Given the description of an element on the screen output the (x, y) to click on. 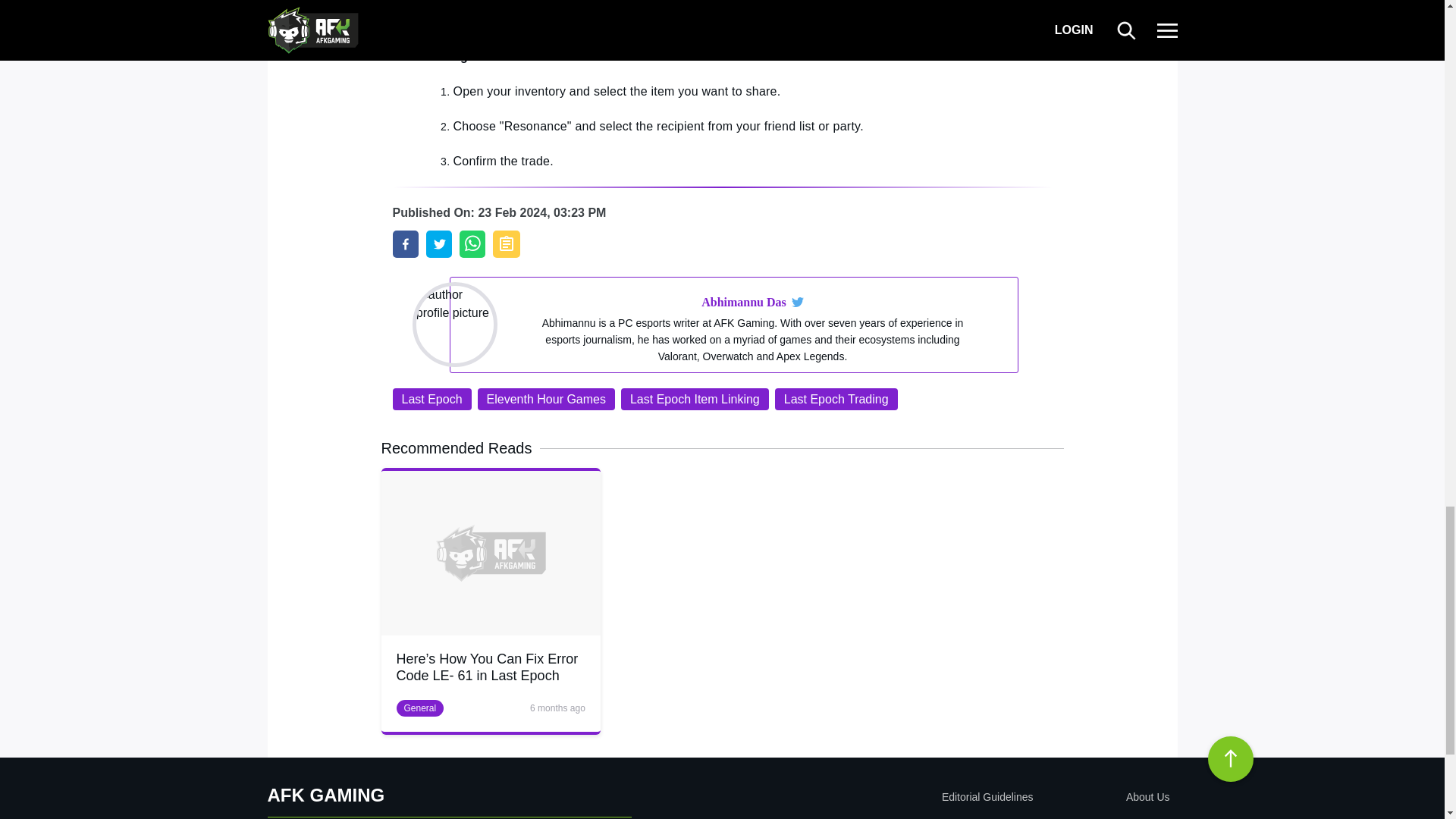
Abhimannu Das (743, 302)
Last Epoch (432, 399)
How to Link Items in Chat in Last Epoch (406, 243)
About Us (1105, 797)
Eleventh Hour Games (545, 399)
Last Epoch Item Linking (694, 399)
Editorial Guidelines (899, 797)
Last Epoch Trading (836, 399)
